Given the description of an element on the screen output the (x, y) to click on. 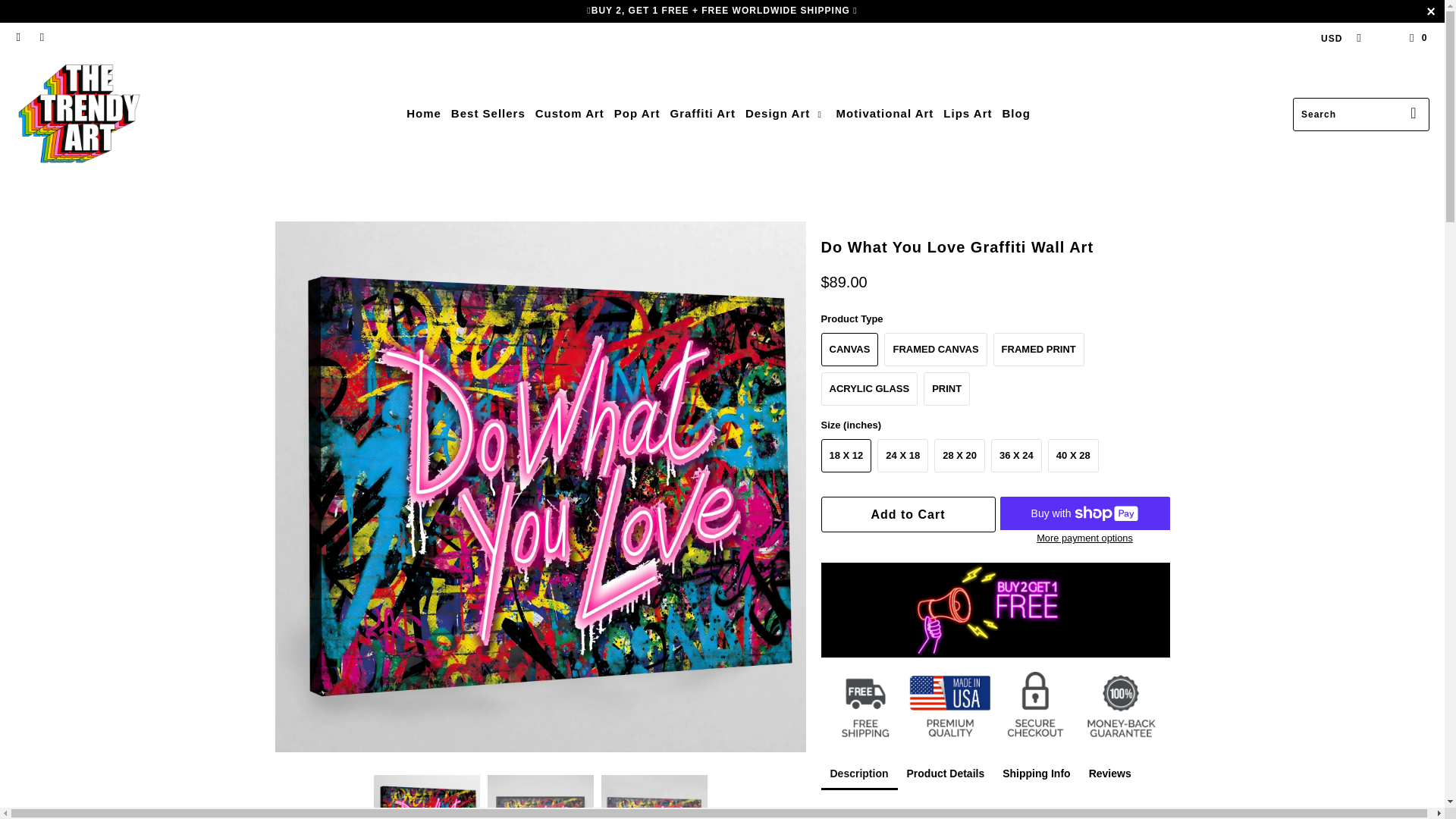
The Trendy Art on Facebook (17, 37)
The Trendy Art (79, 114)
The Trendy Art on Pinterest (41, 37)
